Given the description of an element on the screen output the (x, y) to click on. 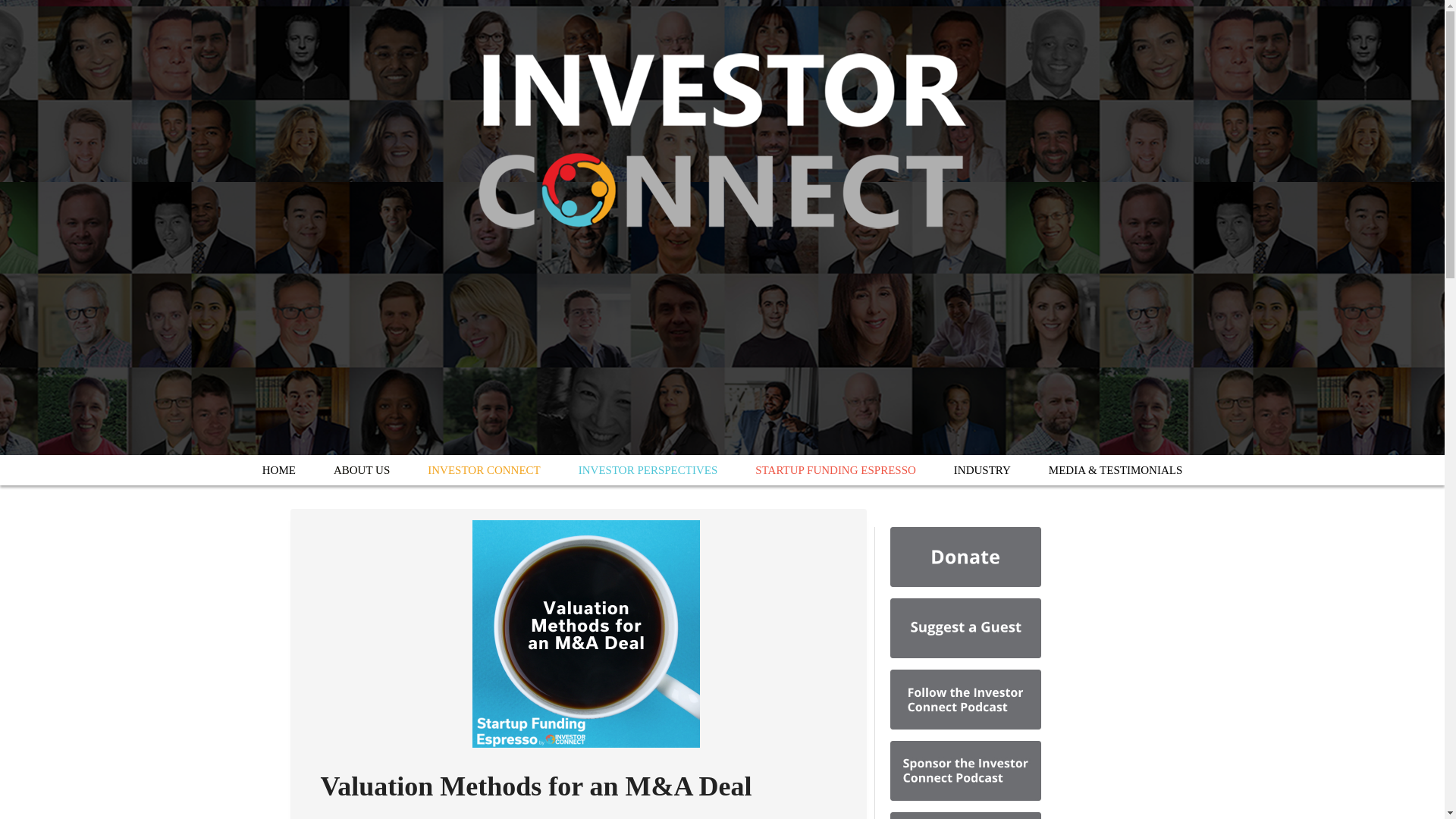
INDUSTRY (981, 470)
Donate (965, 557)
ABOUT US (361, 470)
INVESTOR CONNECT (484, 470)
HOME (278, 470)
STARTUP FUNDING ESPRESSO (835, 470)
Suggest a Guest (965, 628)
INVESTOR PERSPECTIVES (647, 470)
Follow the Investor Connect Podcast (965, 699)
Sponsor the Investor Connect Podcast (965, 770)
